Given the description of an element on the screen output the (x, y) to click on. 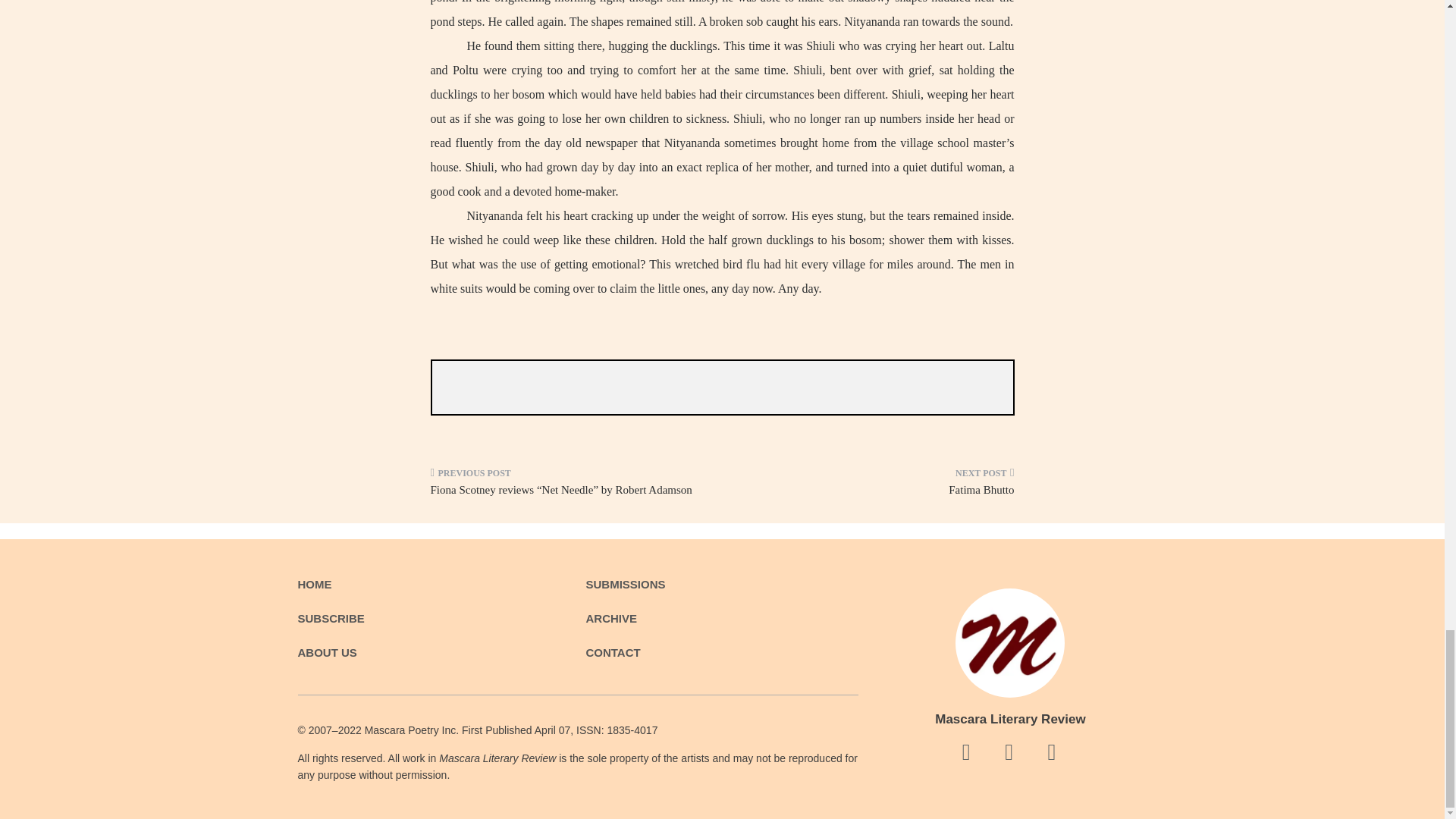
Fatima Bhutto (873, 486)
